Given the description of an element on the screen output the (x, y) to click on. 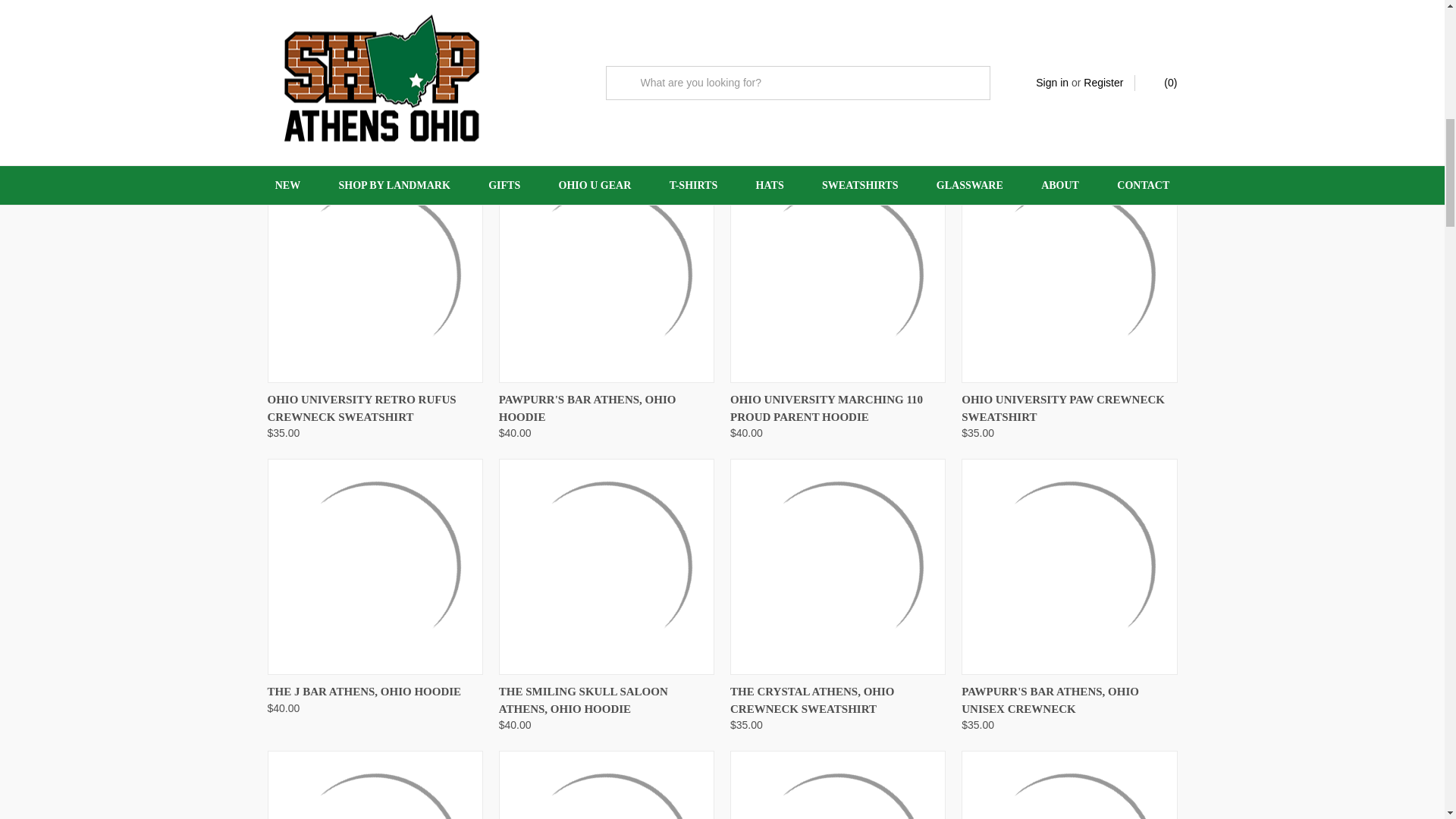
The C.I. Athens, Ohio Crewneck Sweatshirt (374, 43)
Pawpurr's Bar Athens, Ohio Hoodie - Ohio University (606, 275)
The Crystal Athens, Ohio Crewneck Sweatshirt (837, 566)
Ohio University Retro Rufus Crewneck Sweatshirt (374, 275)
Bagel Street Deli Athens, Ohio Navy Blue Unisex Hoodie (1068, 43)
Ohio University Marching 110 Proud Parent Hoodie (837, 275)
Stephen's Bar Athens, Ohio Pocket Logo Hoodie Black Front (374, 786)
Ohio University Alumni Paw Crewneck Sweatshirt (606, 43)
Ohio University Paw Crewneck Sweatshirt (1068, 275)
